Given the description of an element on the screen output the (x, y) to click on. 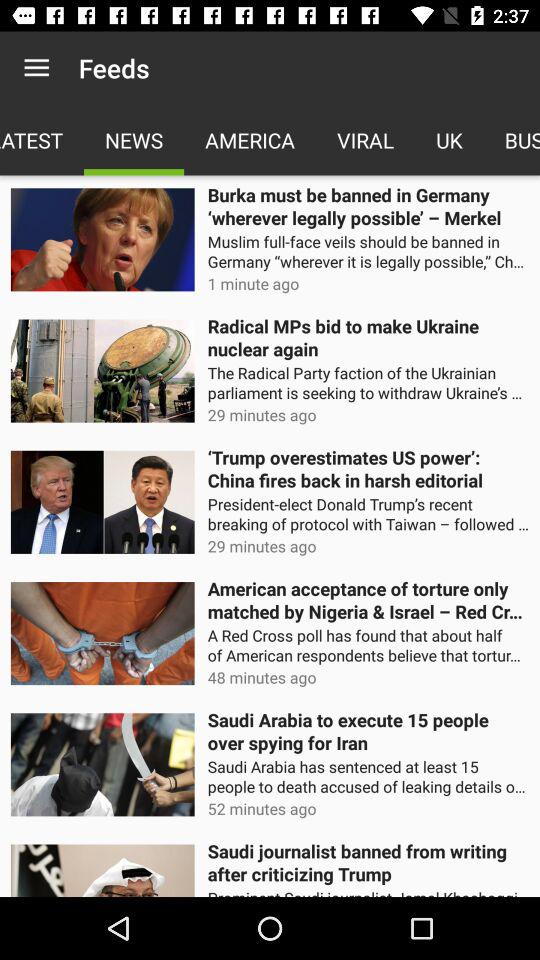
turn on the icon above the burka must be icon (511, 140)
